Given the description of an element on the screen output the (x, y) to click on. 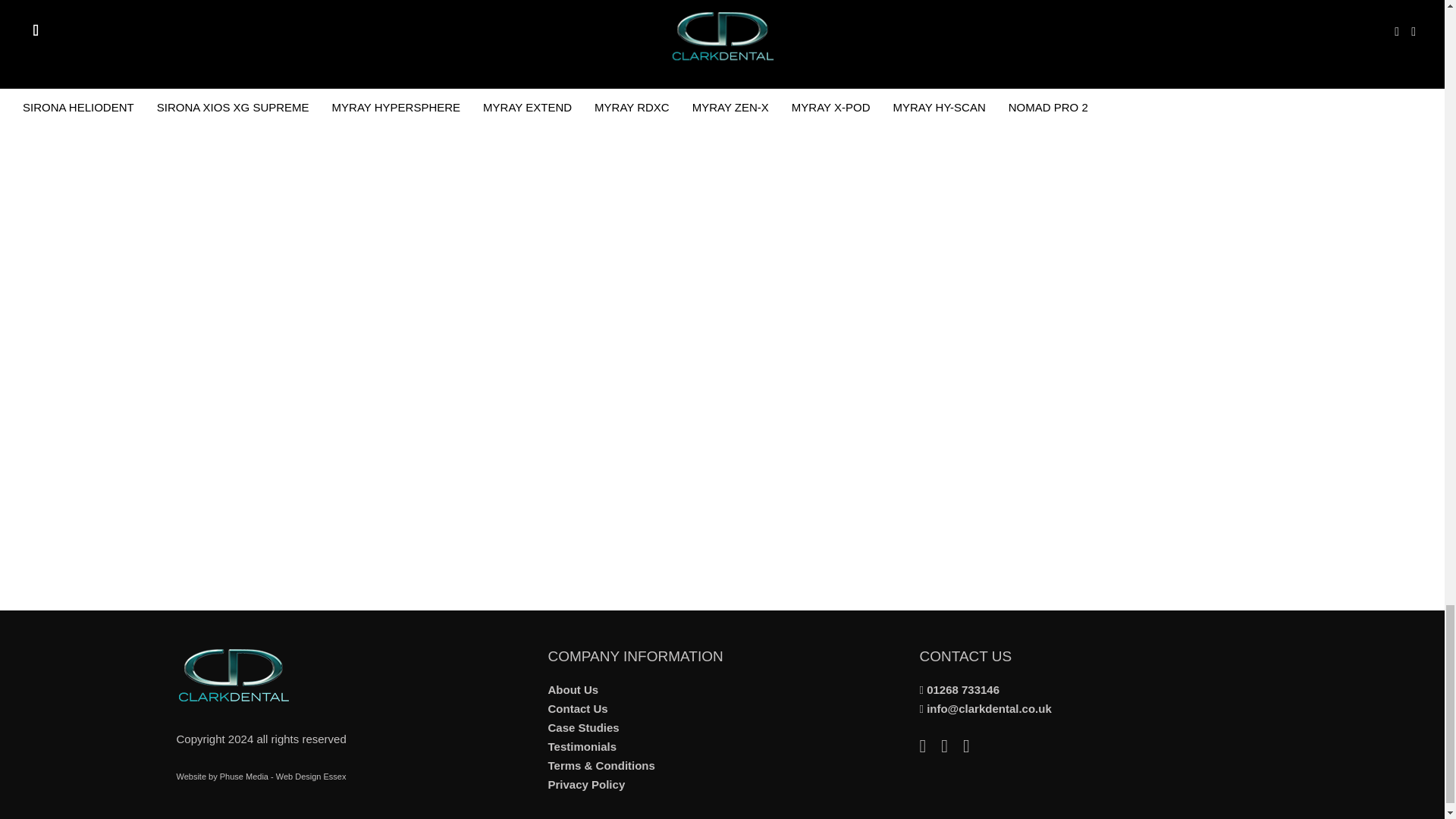
Facebook (951, 748)
Linkedin (929, 748)
Instagram (973, 748)
